Given the description of an element on the screen output the (x, y) to click on. 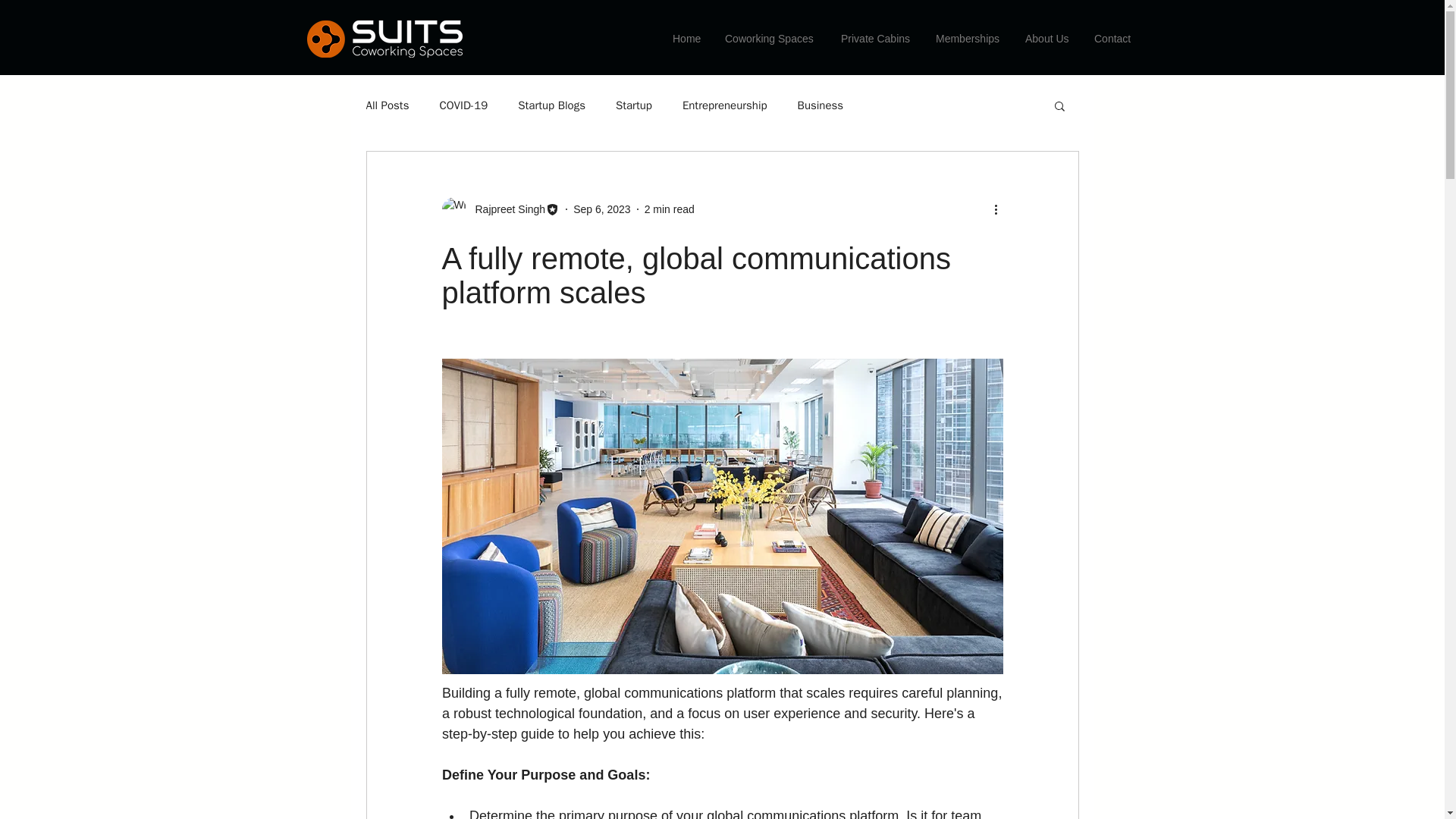
Suits Cafe Logo (383, 38)
Rajpreet Singh (500, 209)
Home (687, 38)
Contact (1113, 38)
Startup (633, 105)
All Posts (387, 105)
About Us (1048, 38)
Private Cabins (876, 38)
2 min read (669, 209)
COVID-19 (463, 105)
Rajpreet Singh (504, 209)
Entrepreneurship (724, 105)
Sep 6, 2023 (601, 209)
Business (820, 105)
Coworking Spaces (771, 38)
